Given the description of an element on the screen output the (x, y) to click on. 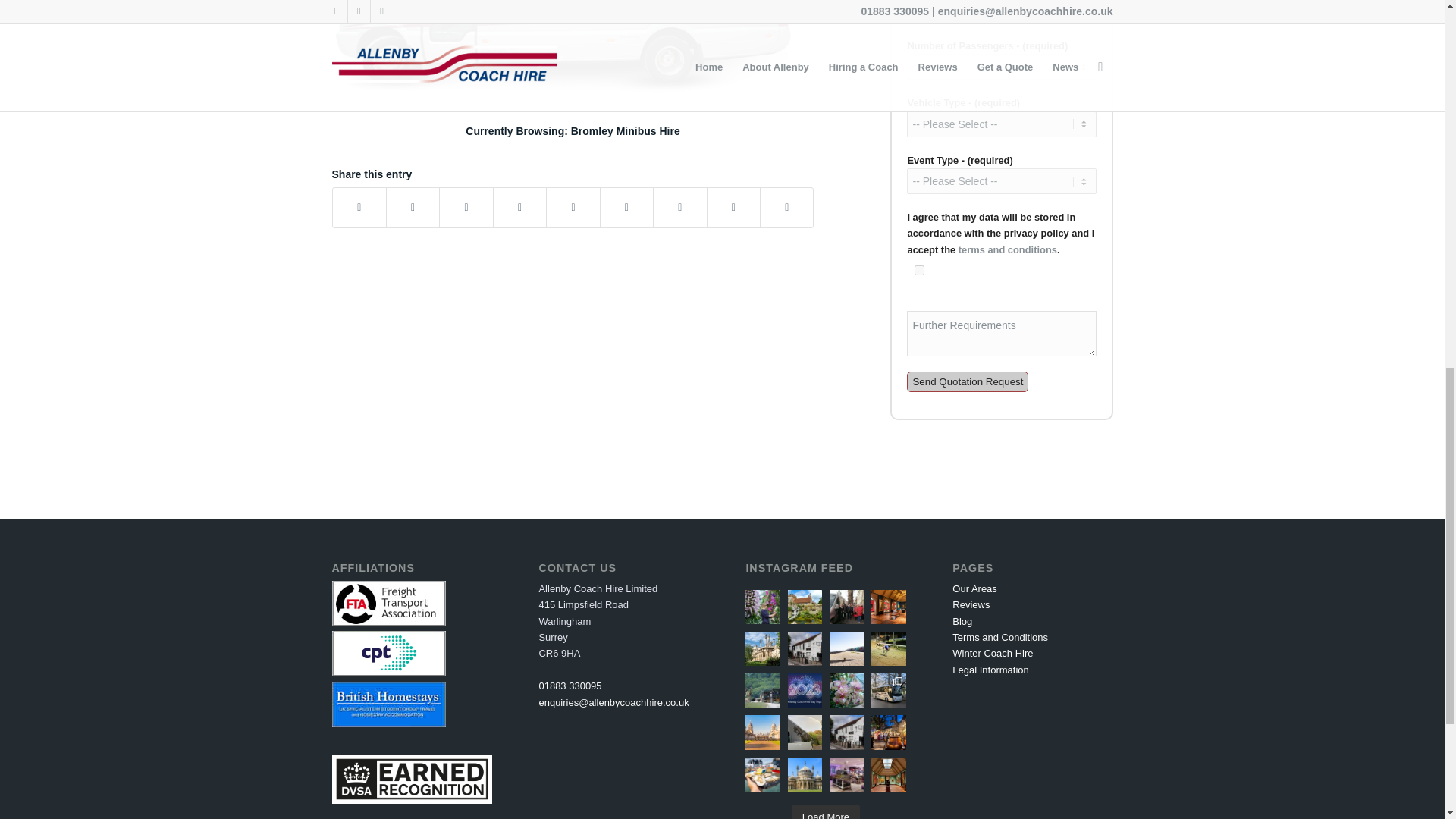
Send Quotation Request (967, 381)
on (919, 270)
Send Quotation Request (967, 381)
terms and conditions (1007, 249)
